Given the description of an element on the screen output the (x, y) to click on. 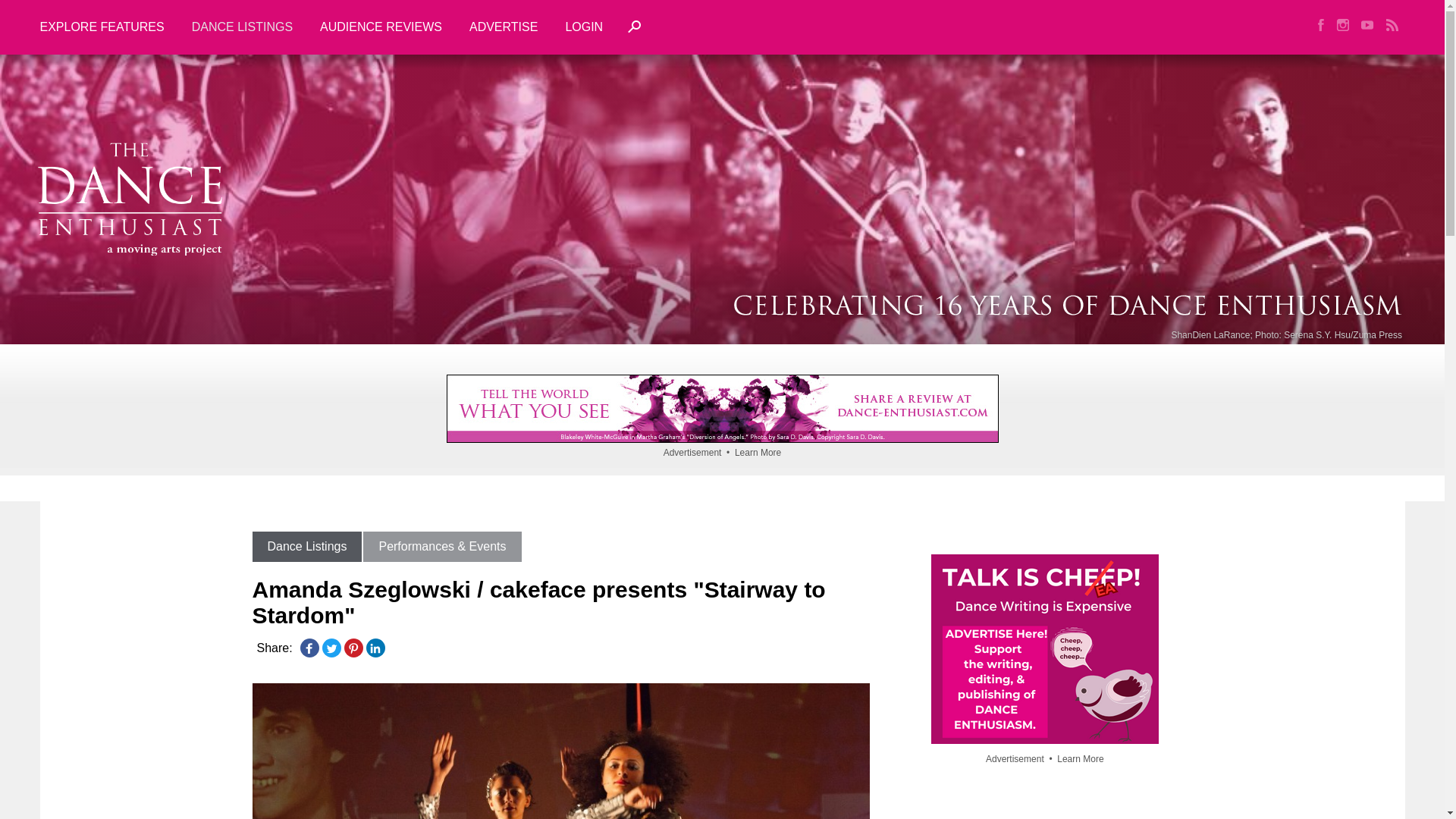
Twitter (331, 648)
AUDIENCE REVIEWS (380, 27)
Pinterest (353, 648)
LinkedIn (375, 648)
EXPLORE FEATURES (108, 27)
LOGIN (583, 27)
ADVERTISE (503, 27)
Facebook (309, 648)
DANCE LISTINGS (241, 27)
